Given the description of an element on the screen output the (x, y) to click on. 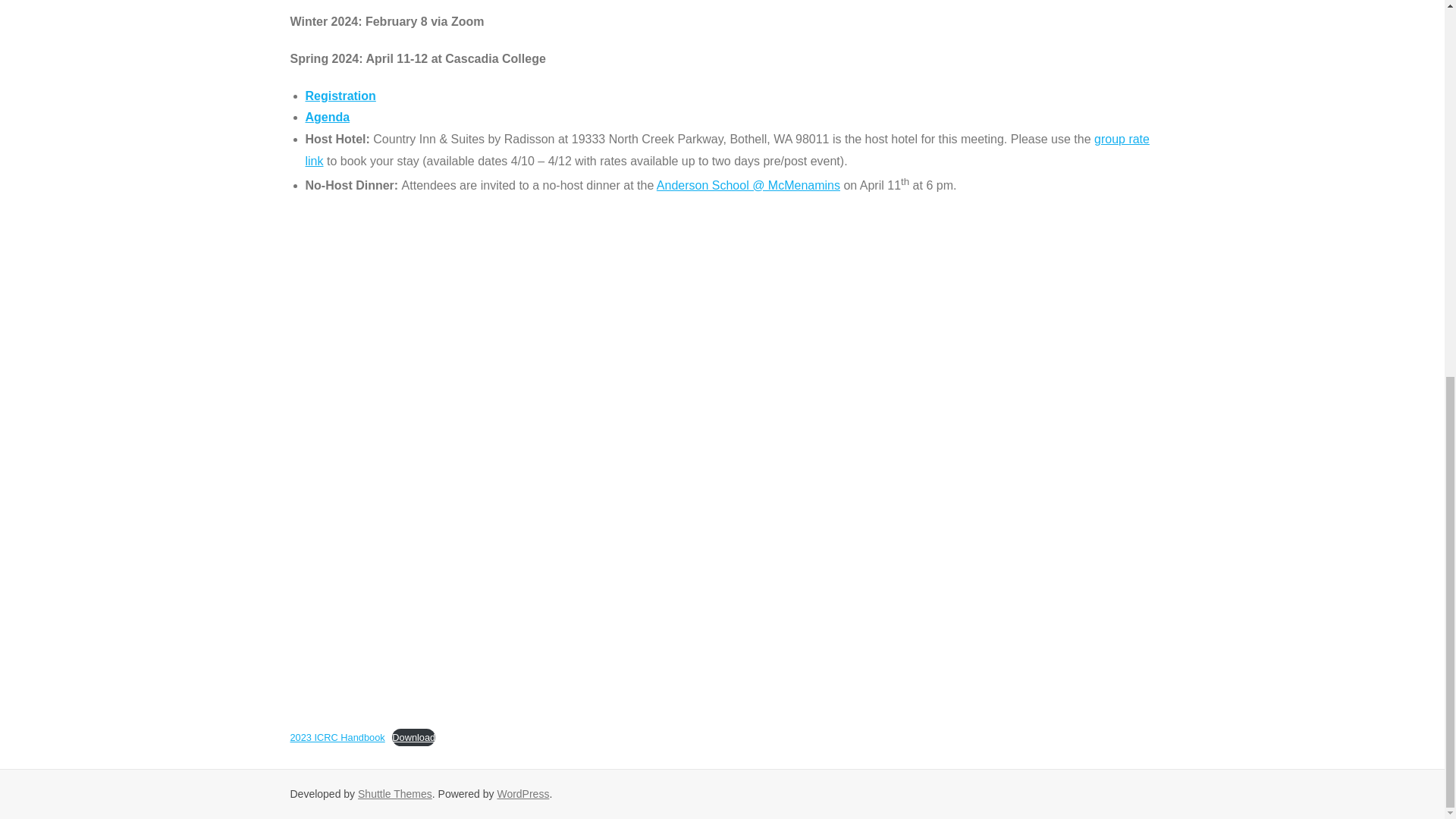
Agenda (326, 116)
2023 ICRC Handbook (336, 737)
Registration (339, 95)
group rate link (726, 149)
